Given the description of an element on the screen output the (x, y) to click on. 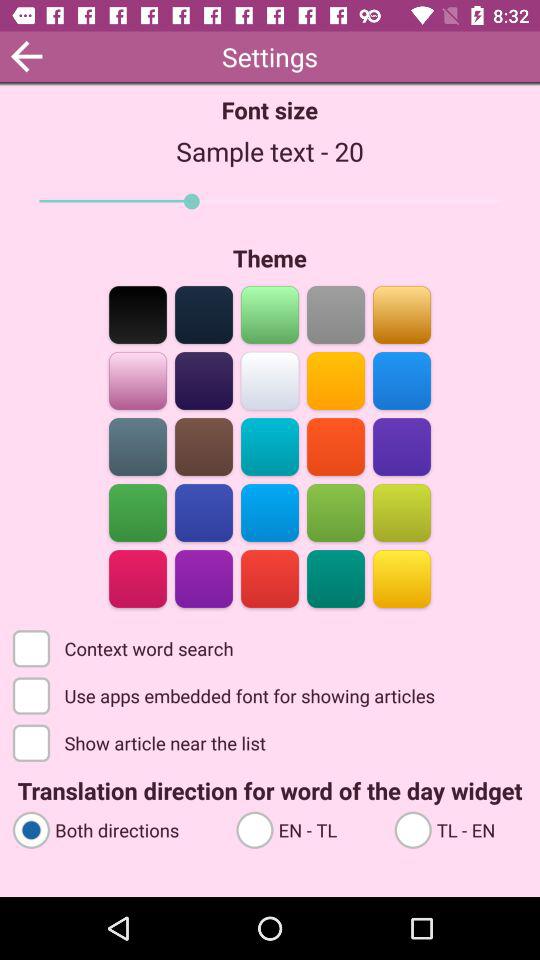
blue color (401, 445)
